Given the description of an element on the screen output the (x, y) to click on. 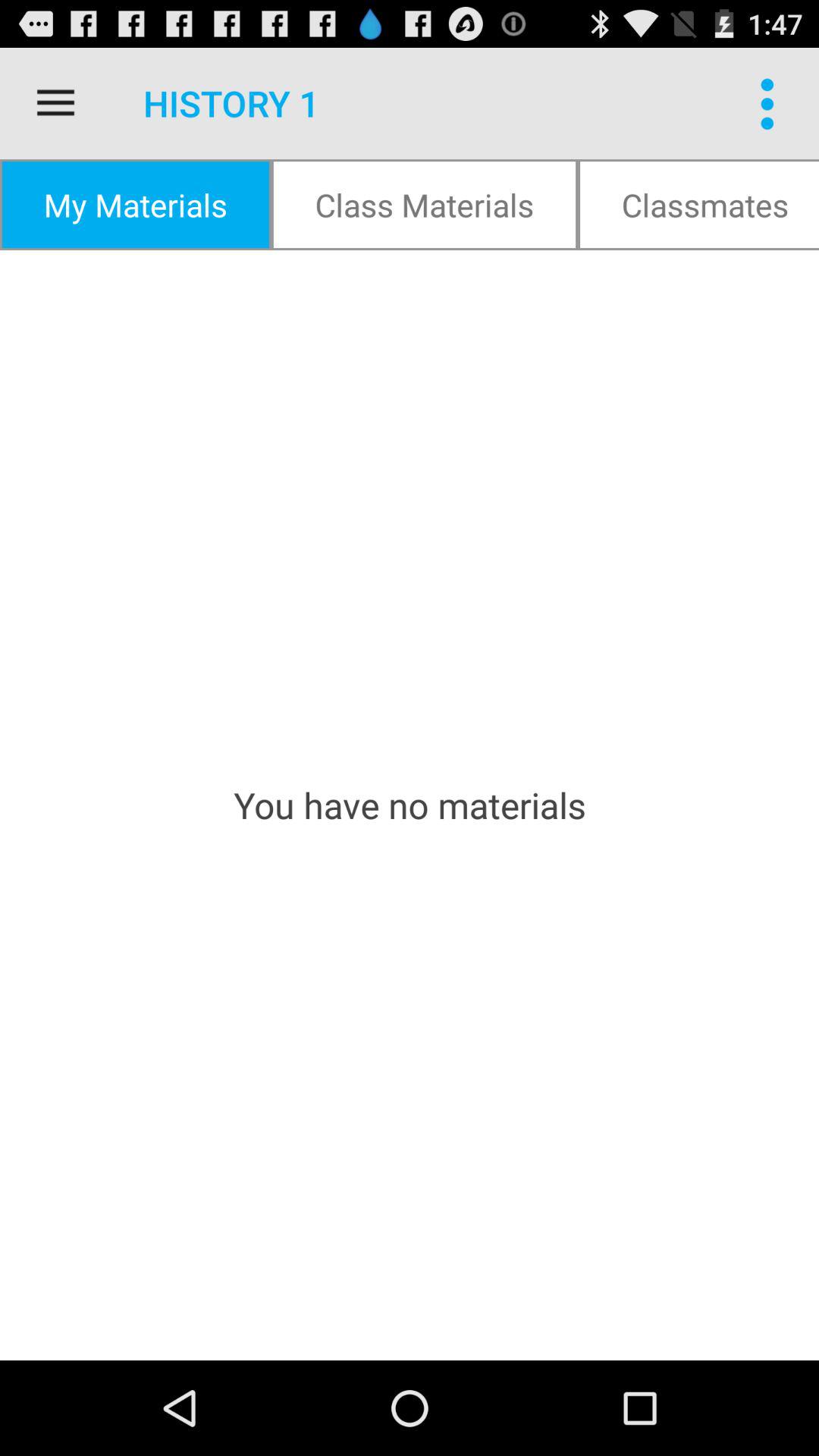
launch the item to the left of class materials (135, 204)
